Given the description of an element on the screen output the (x, y) to click on. 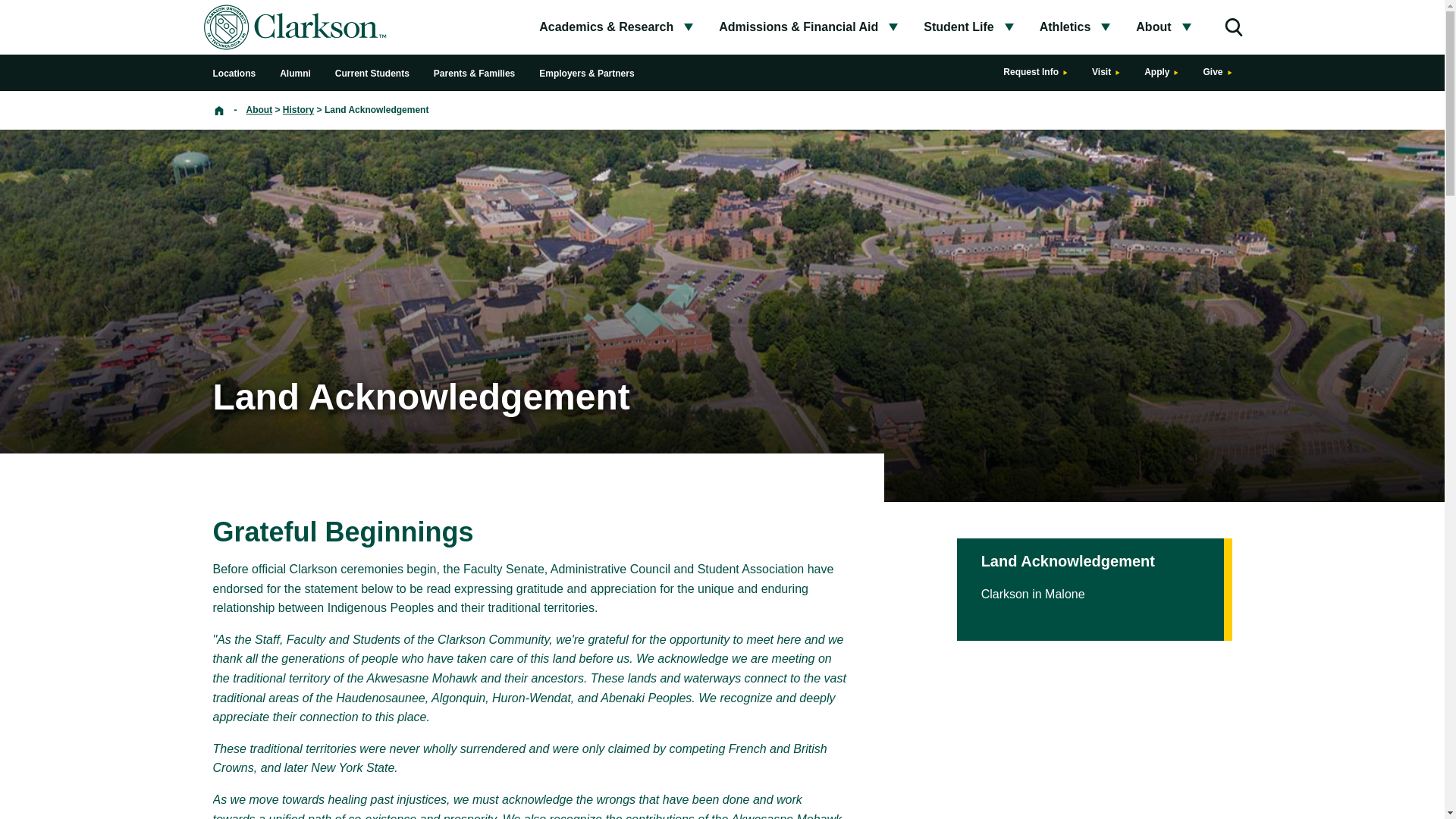
Toggle submenu (892, 27)
About (1152, 26)
Toggle submenu (1105, 27)
Toggle submenu (1009, 27)
Toggle submenu (687, 27)
Toggle submenu (1185, 27)
Athletics (1064, 26)
Student Life (957, 26)
